Given the description of an element on the screen output the (x, y) to click on. 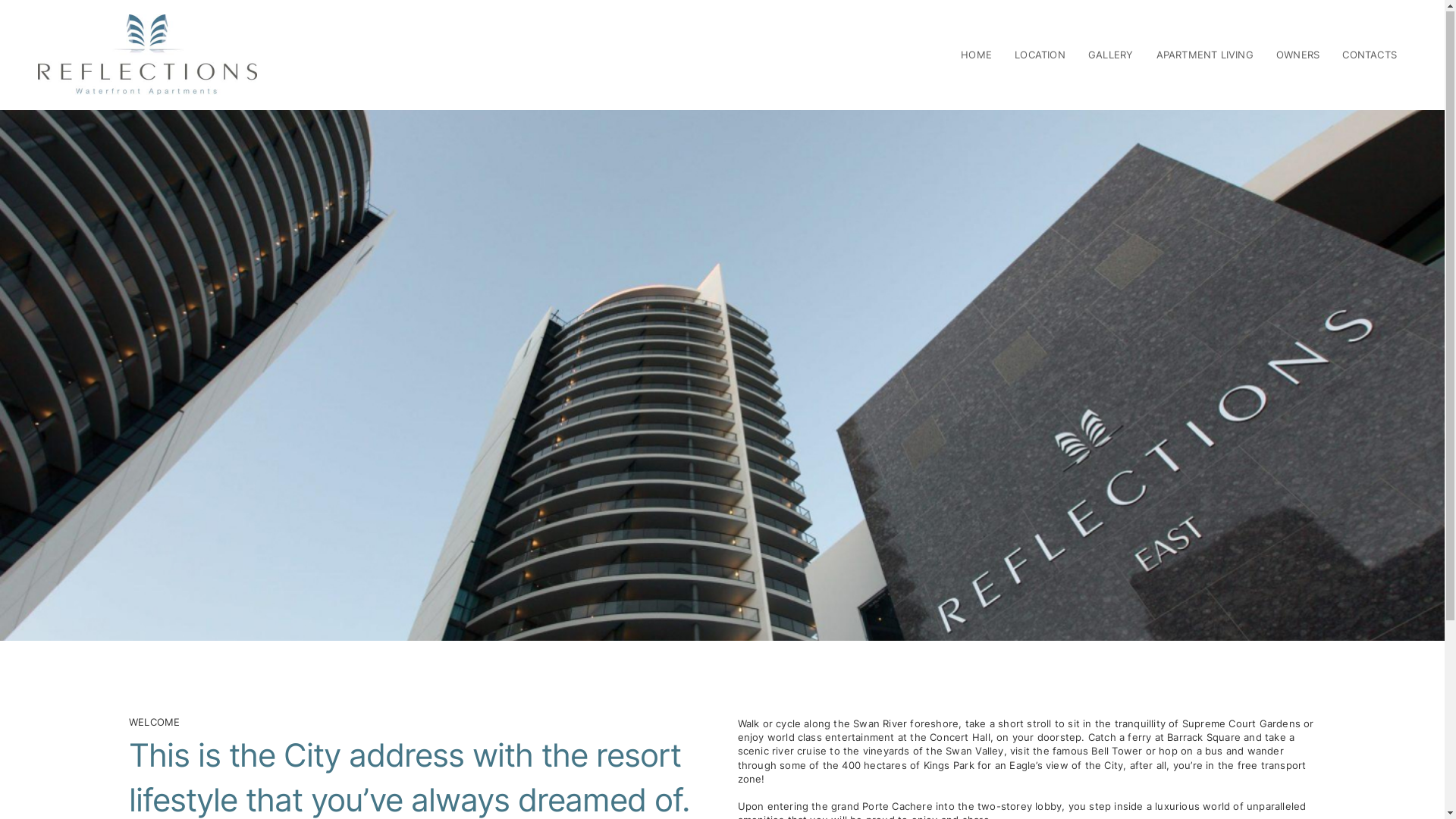
APARTMENT LIVING Element type: text (1204, 55)
GALLERY Element type: text (1110, 55)
OWNERS Element type: text (1297, 55)
HOME Element type: text (975, 55)
LOCATION Element type: text (1039, 55)
CONTACTS Element type: text (1369, 55)
